Given the description of an element on the screen output the (x, y) to click on. 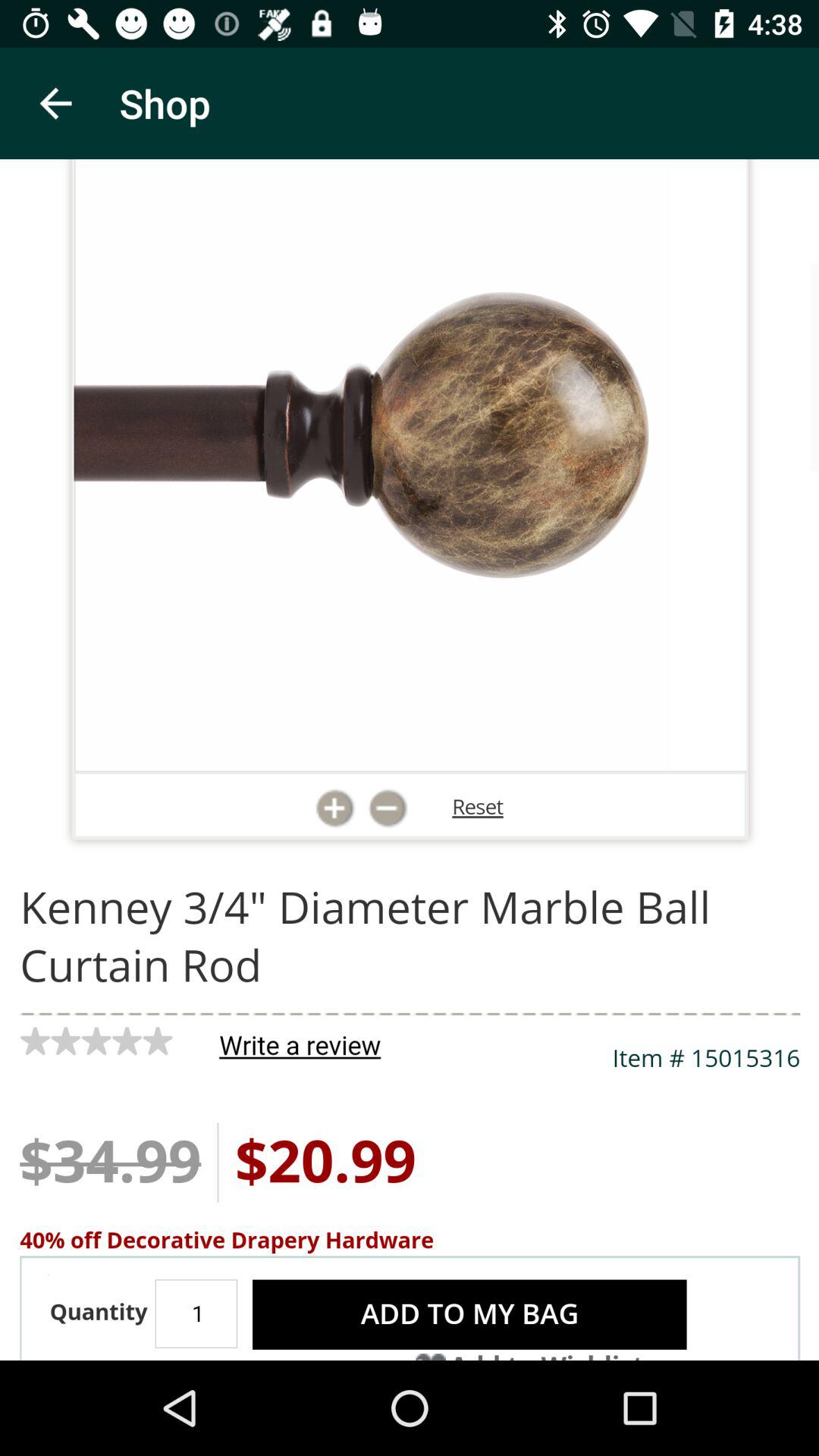
go to previous option (55, 103)
